Given the description of an element on the screen output the (x, y) to click on. 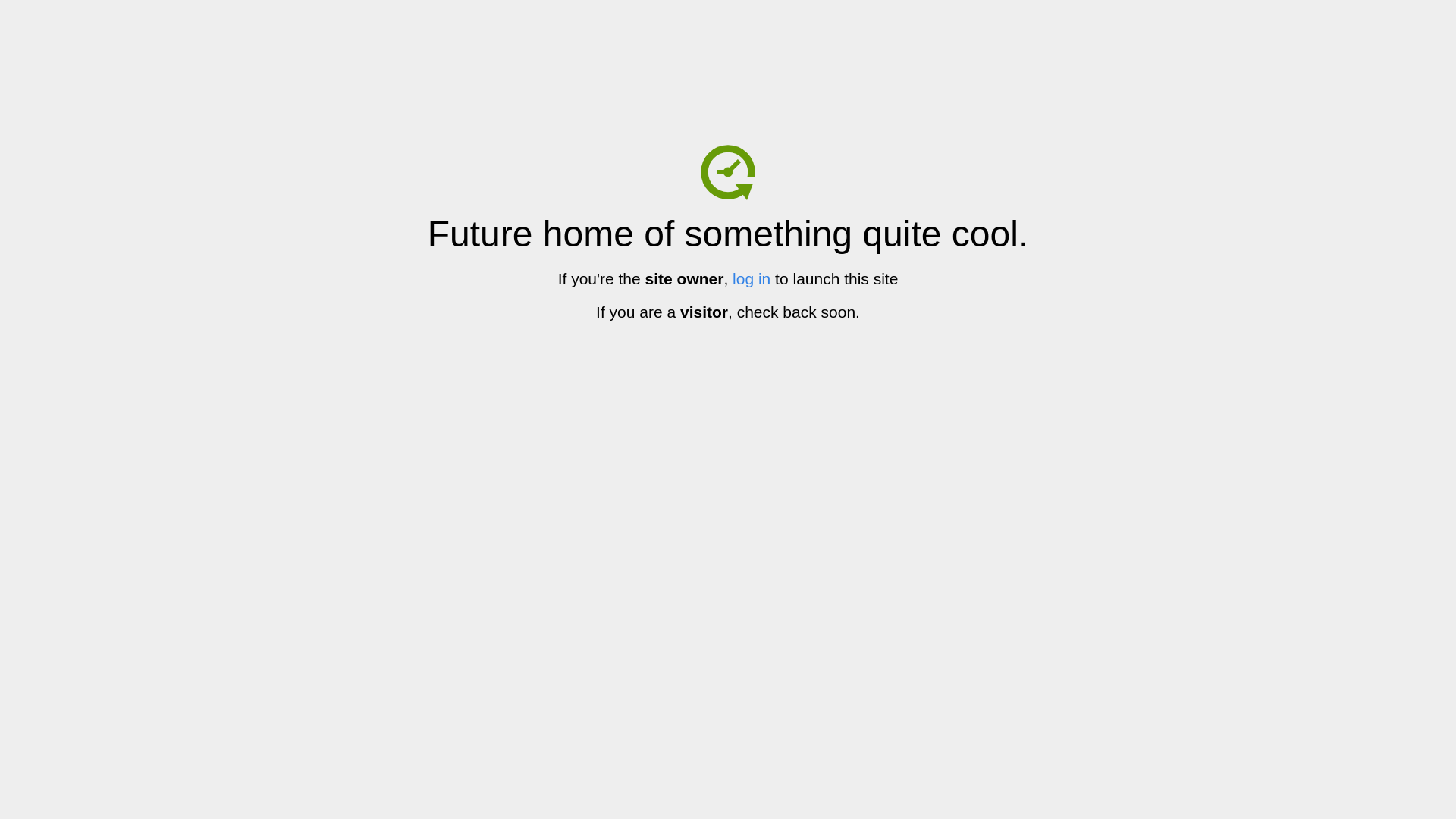
log in Element type: text (751, 278)
